Given the description of an element on the screen output the (x, y) to click on. 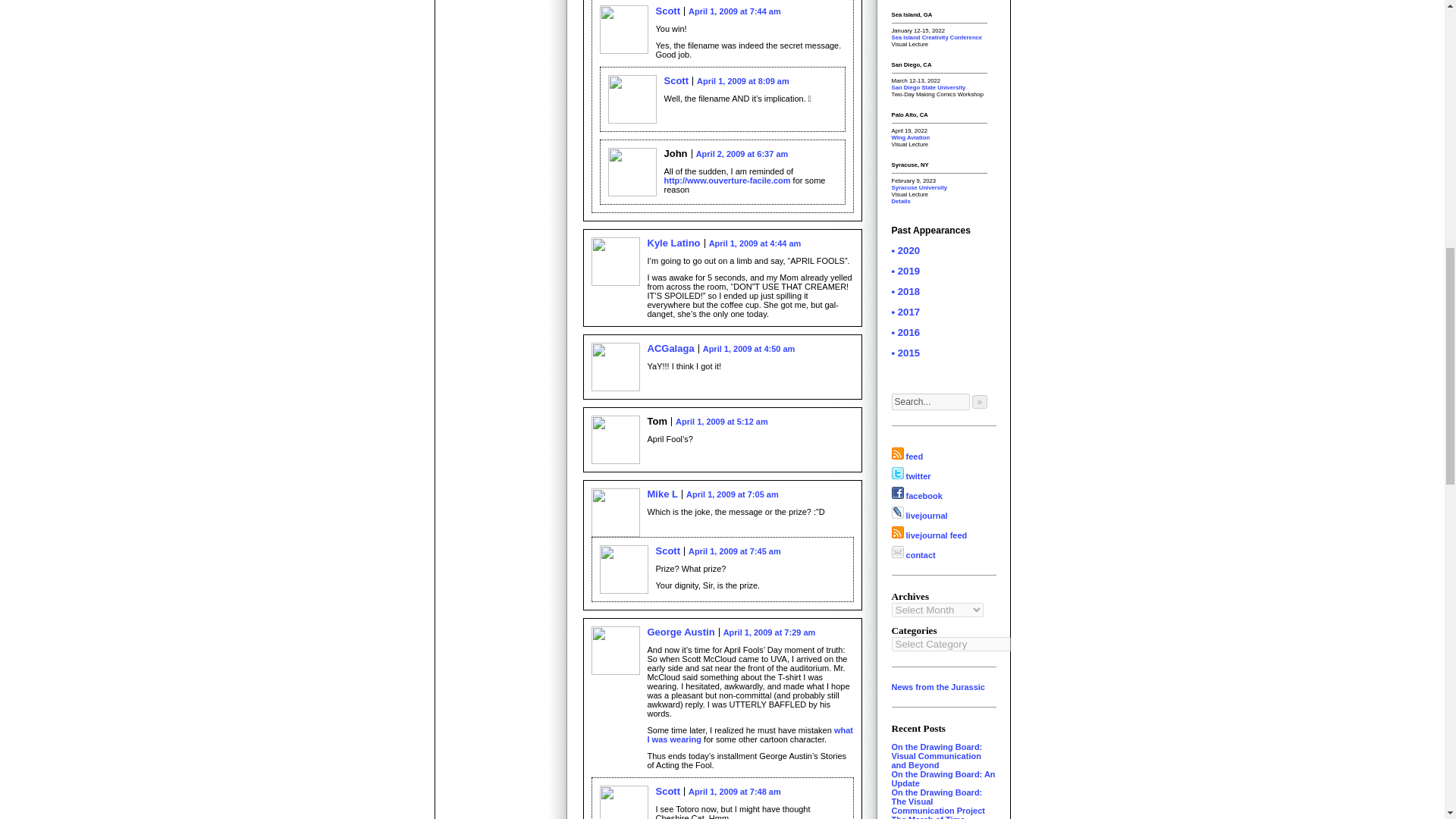
April 2, 2009 at 6:37 am (742, 153)
April 1, 2009 at 4:44 am (755, 243)
Scott (675, 80)
April 1, 2009 at 8:09 am (743, 80)
Scott (667, 10)
Search... (930, 401)
Kyle Latino (673, 242)
April 1, 2009 at 7:44 am (734, 10)
